Given the description of an element on the screen output the (x, y) to click on. 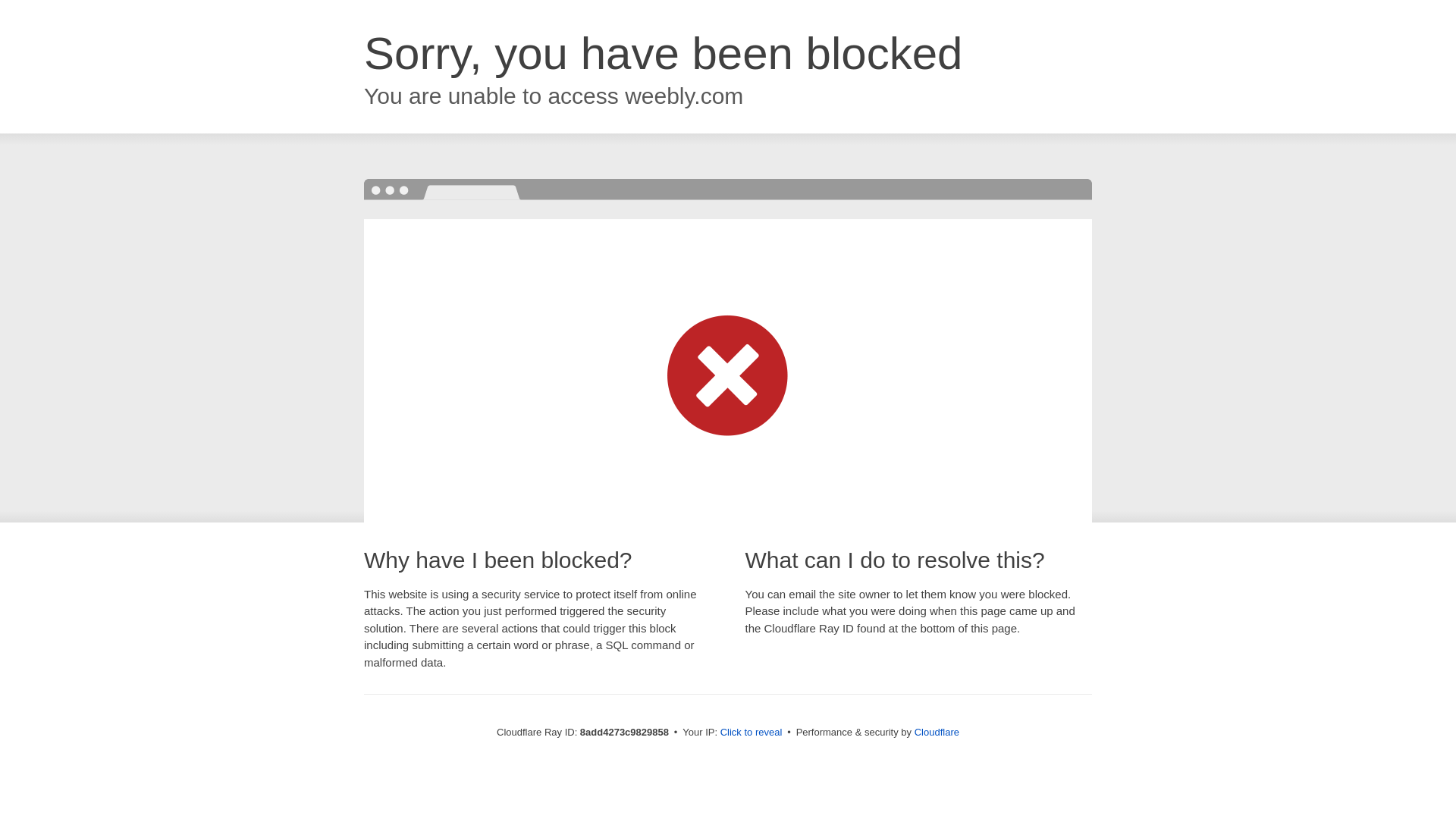
Cloudflare (936, 731)
Click to reveal (751, 732)
